Given the description of an element on the screen output the (x, y) to click on. 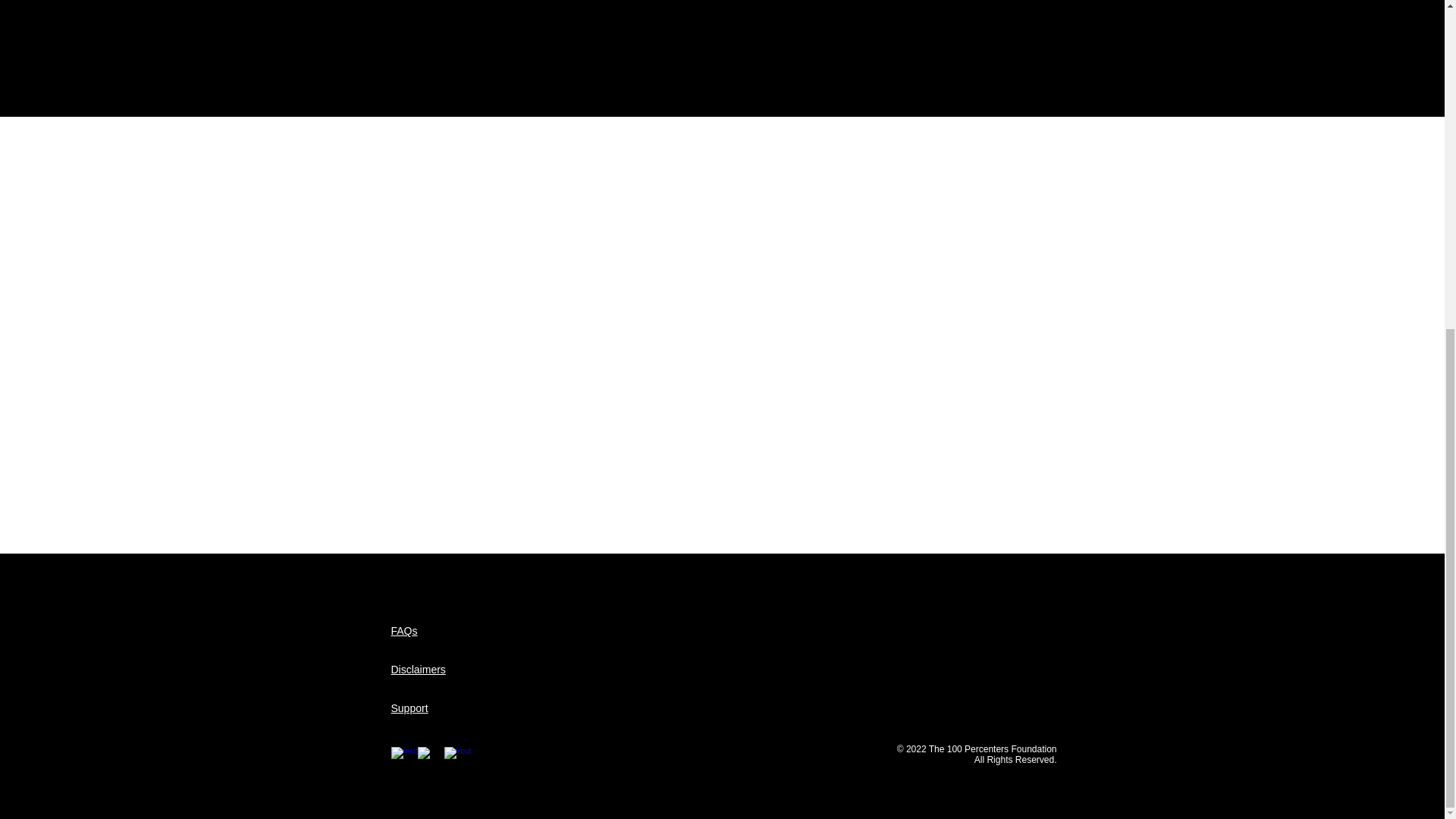
FAQs (404, 630)
Disclaimers (418, 669)
Support (409, 707)
